Given the description of an element on the screen output the (x, y) to click on. 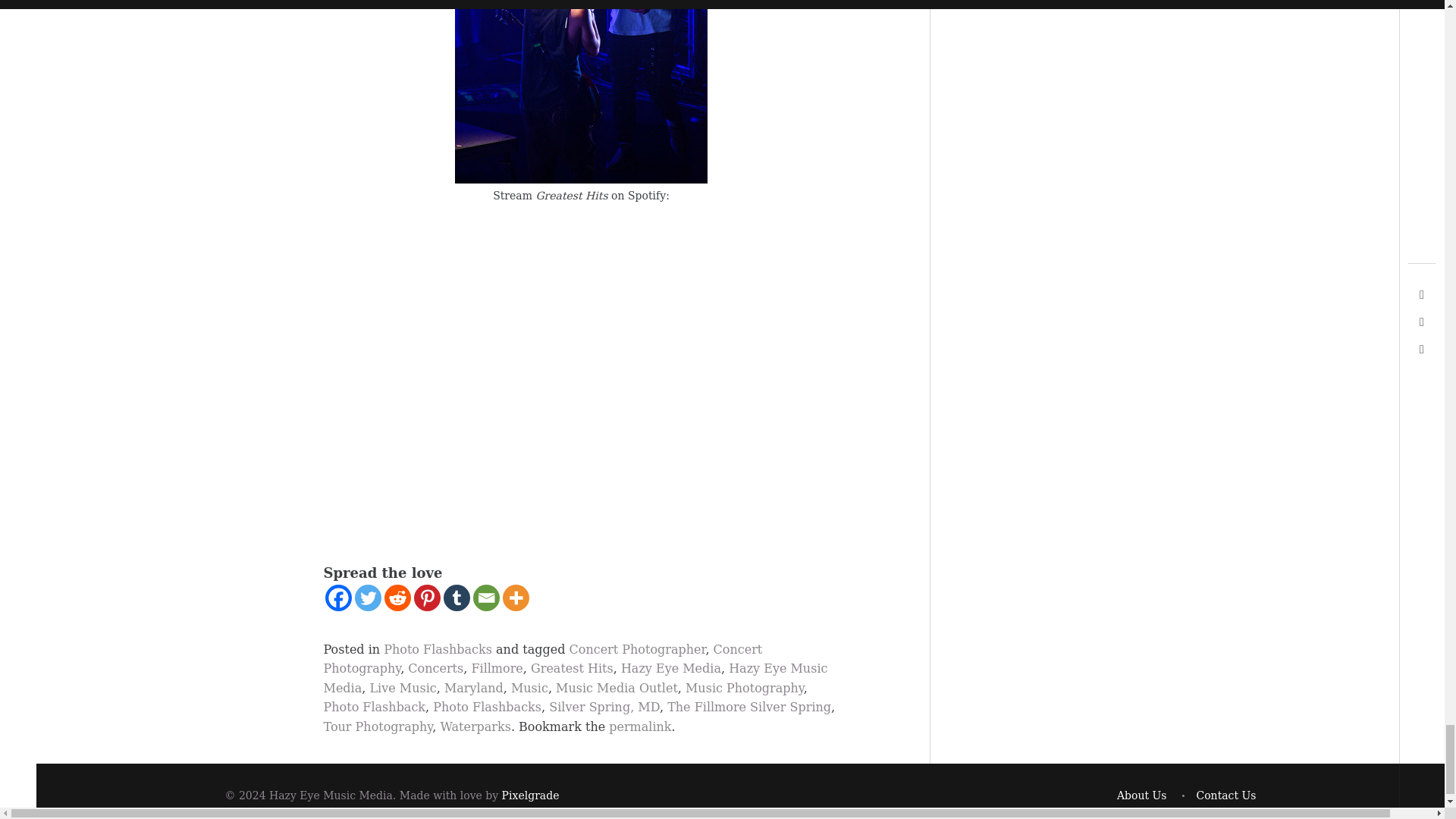
Twitter (368, 597)
More (515, 597)
Email (486, 597)
Reddit (397, 597)
Tumblr (455, 597)
Facebook (337, 597)
Pinterest (427, 597)
